Given the description of an element on the screen output the (x, y) to click on. 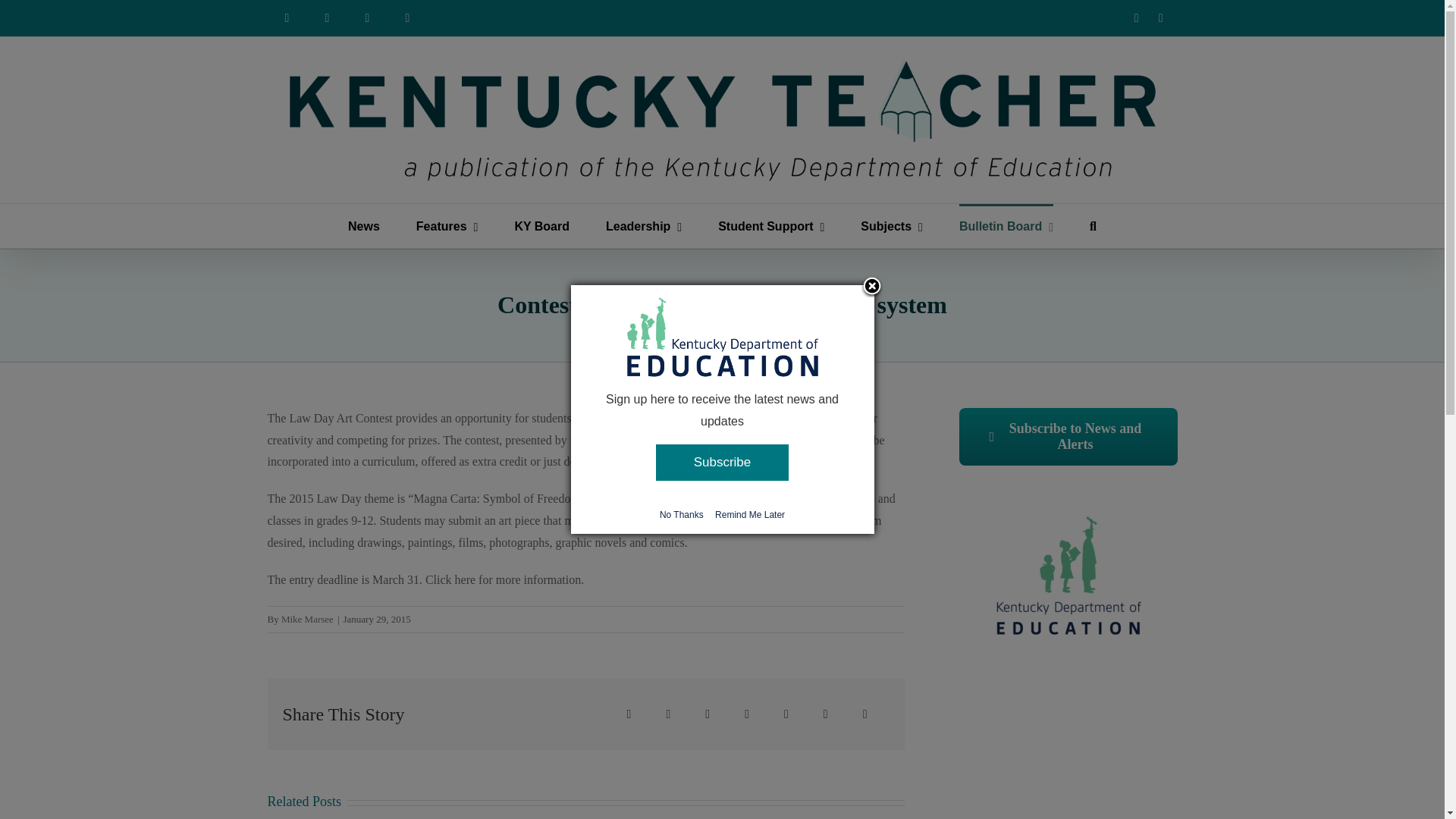
Bulletin Board (1005, 225)
Features (447, 225)
Posts by Mike Marsee (307, 618)
Leadership (643, 225)
Staff (367, 18)
Contact (408, 18)
Home (285, 18)
Student Support (770, 225)
Subjects (891, 225)
KY Board (541, 225)
About (327, 18)
